Given the description of an element on the screen output the (x, y) to click on. 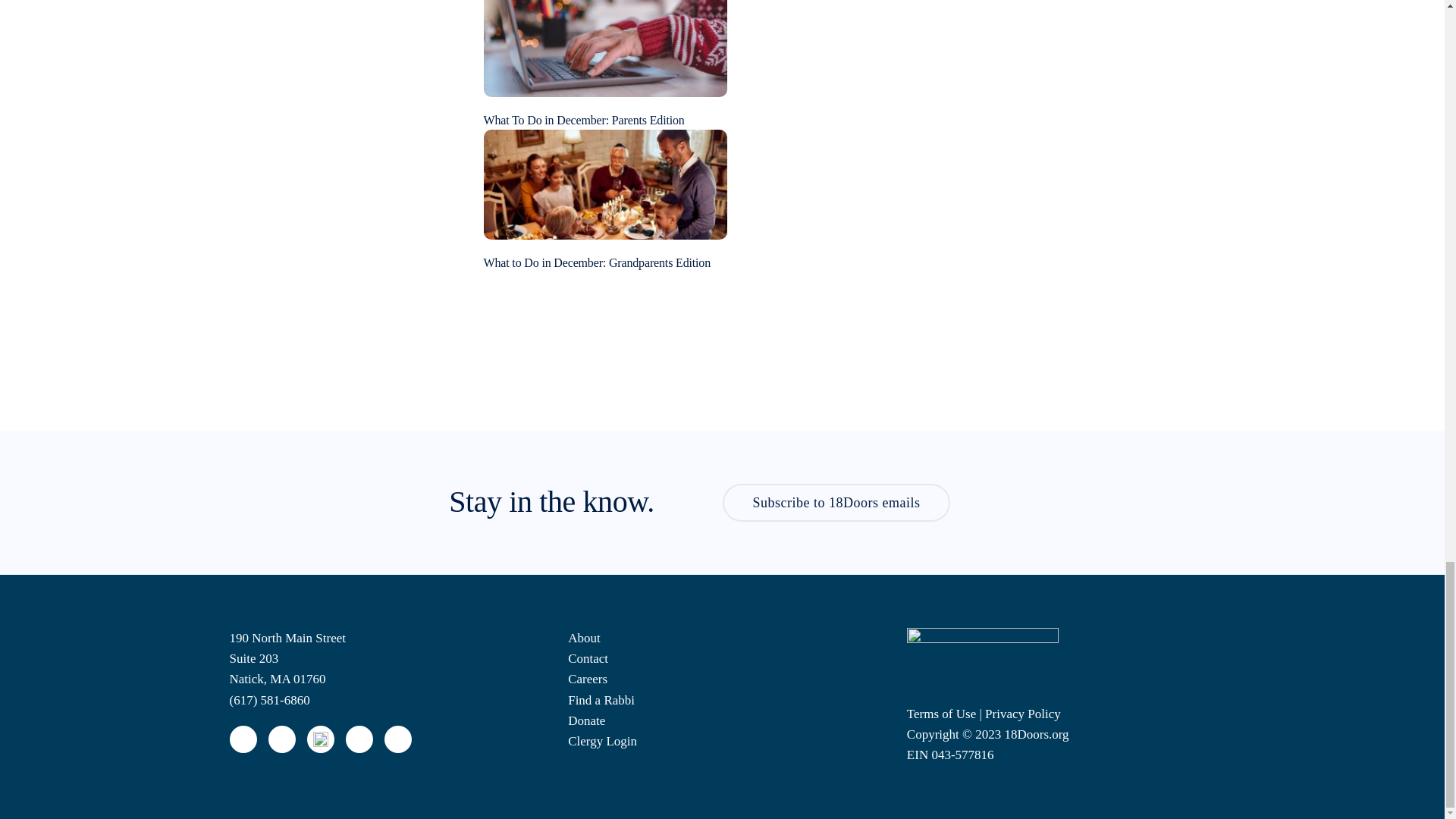
What To Do in December: Parents Edition (605, 41)
What To Do in December: Parents Edition (583, 119)
What to Do in December: Grandparents Edition (597, 262)
What to Do in December: Grandparents Edition (605, 183)
